Given the description of an element on the screen output the (x, y) to click on. 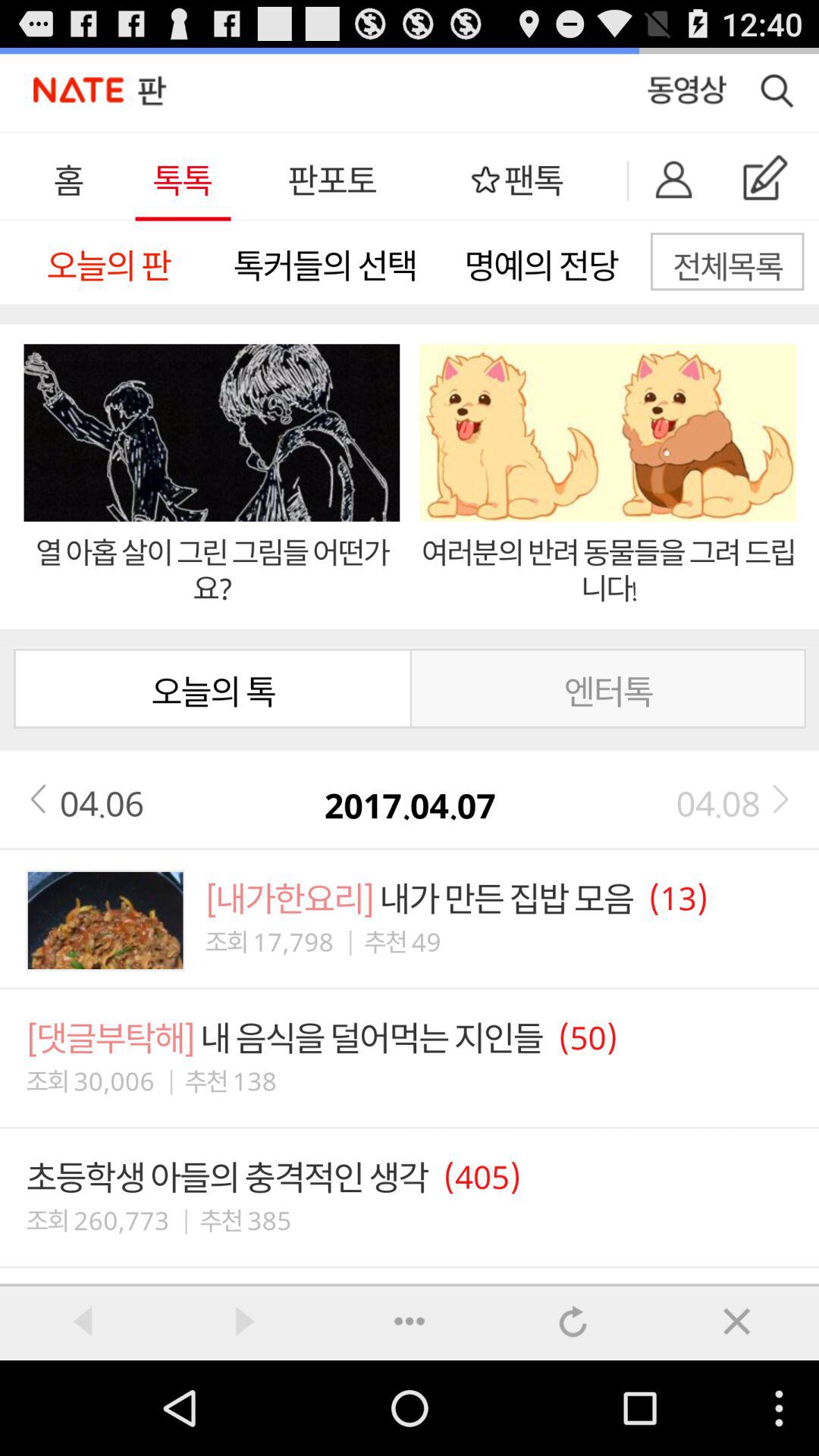
exit (737, 1320)
